Given the description of an element on the screen output the (x, y) to click on. 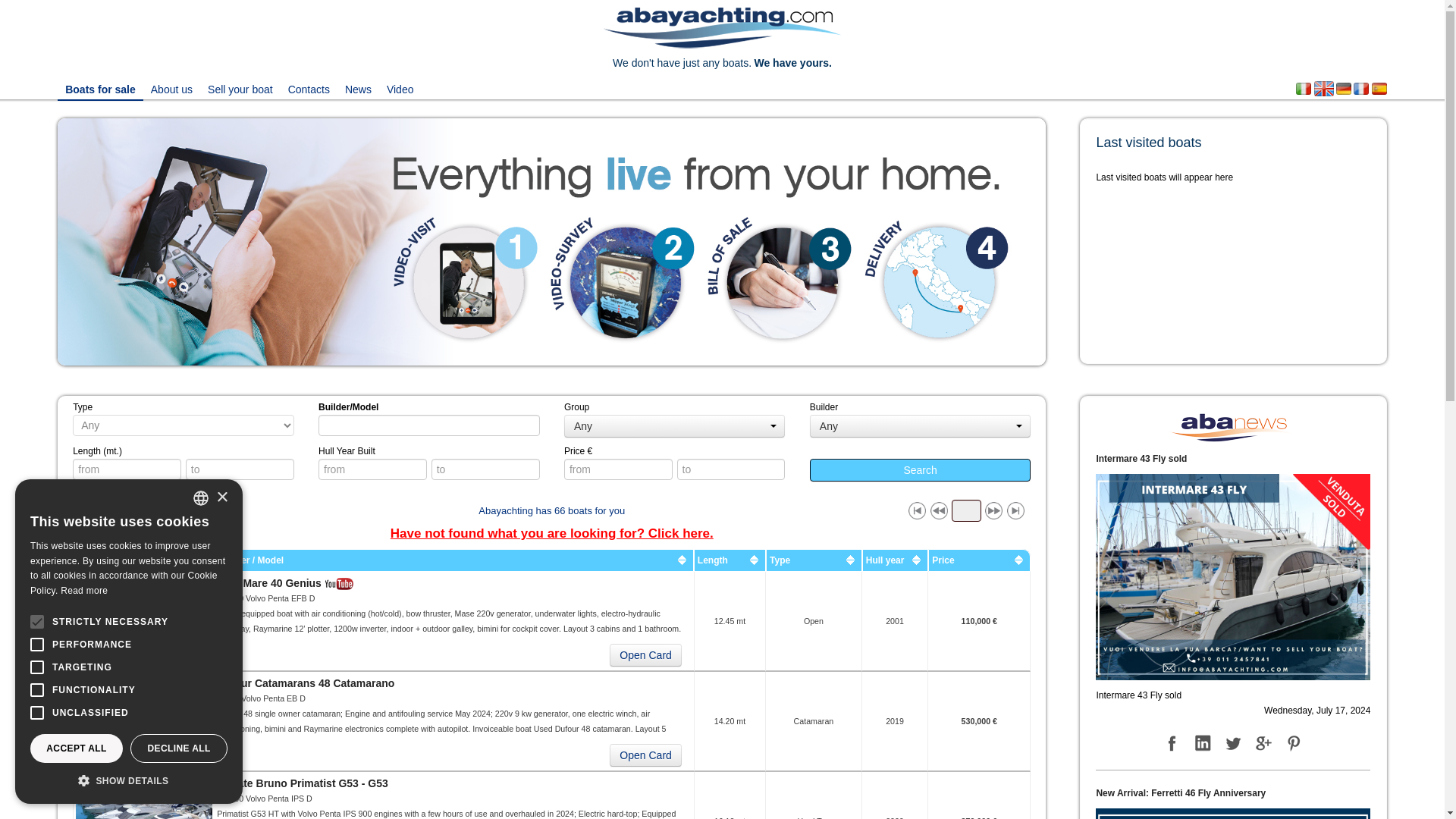
Any (919, 425)
Intermare 43 Fly sold (1233, 575)
Contacts (309, 88)
Sell your boat (240, 88)
Video (400, 88)
Any (919, 425)
Boats for sale (100, 88)
News (357, 88)
About us (171, 88)
Any (675, 425)
Any (675, 425)
